Given the description of an element on the screen output the (x, y) to click on. 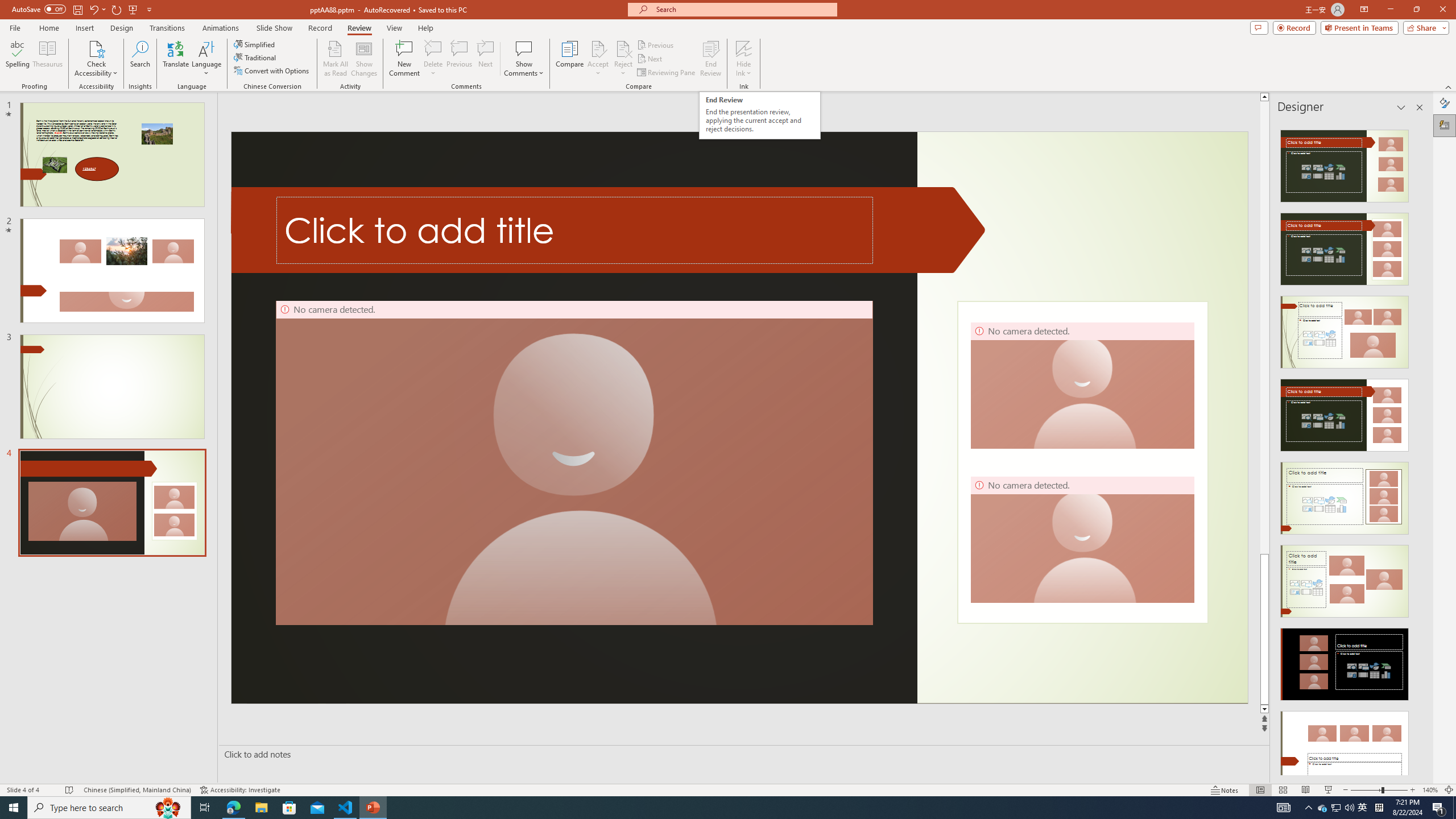
Convert with Options... (272, 69)
Format Background (1444, 102)
Previous (655, 44)
Show Changes (363, 58)
